Given the description of an element on the screen output the (x, y) to click on. 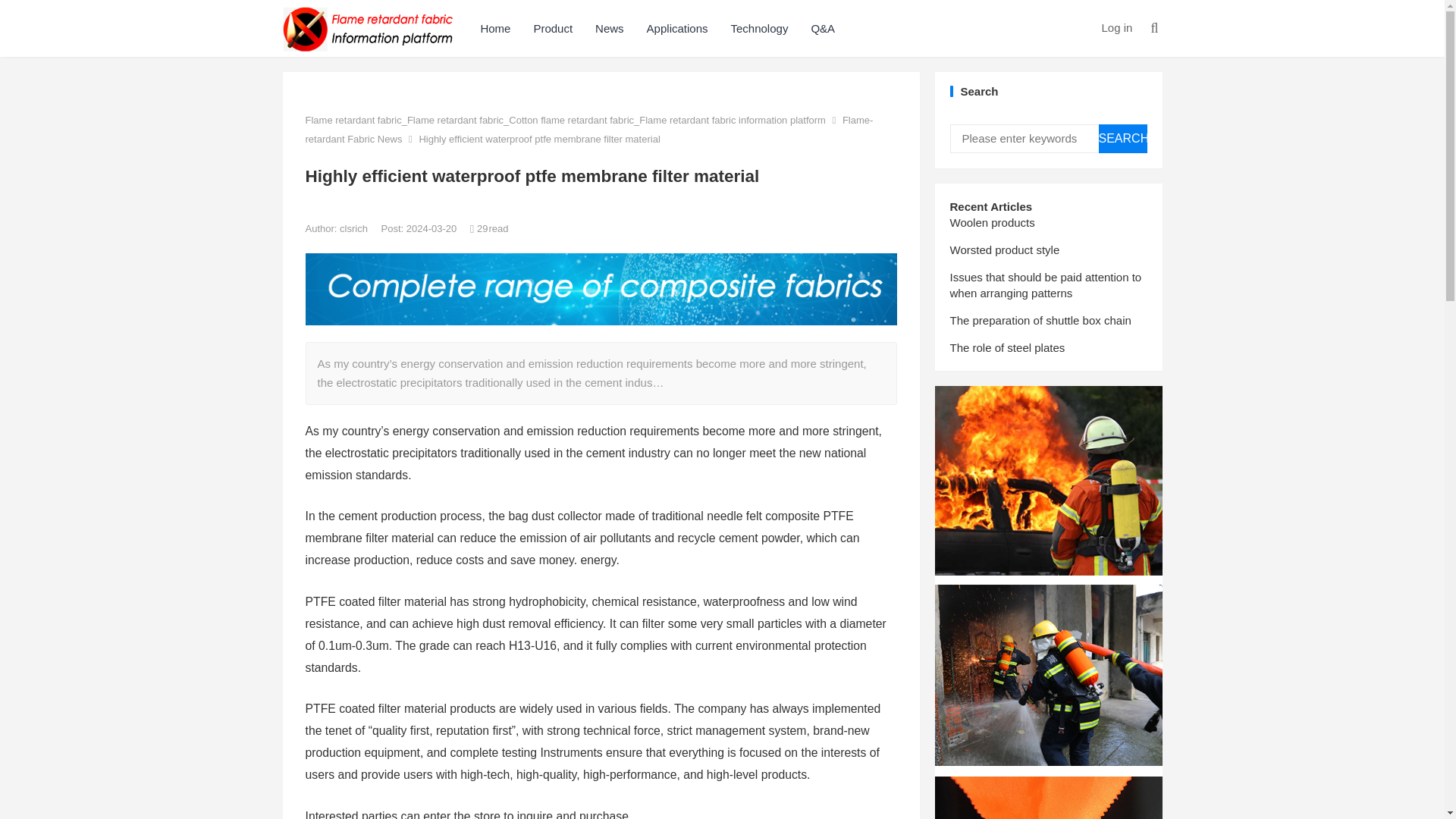
SEARCH (1122, 138)
Woolen products (991, 222)
Log in (1116, 27)
Home (494, 28)
clsrich (354, 228)
Flame-retardant Fabric News (588, 128)
Technology (759, 28)
News (608, 28)
Product (552, 28)
Applications (676, 28)
Log in (1116, 27)
